Given the description of an element on the screen output the (x, y) to click on. 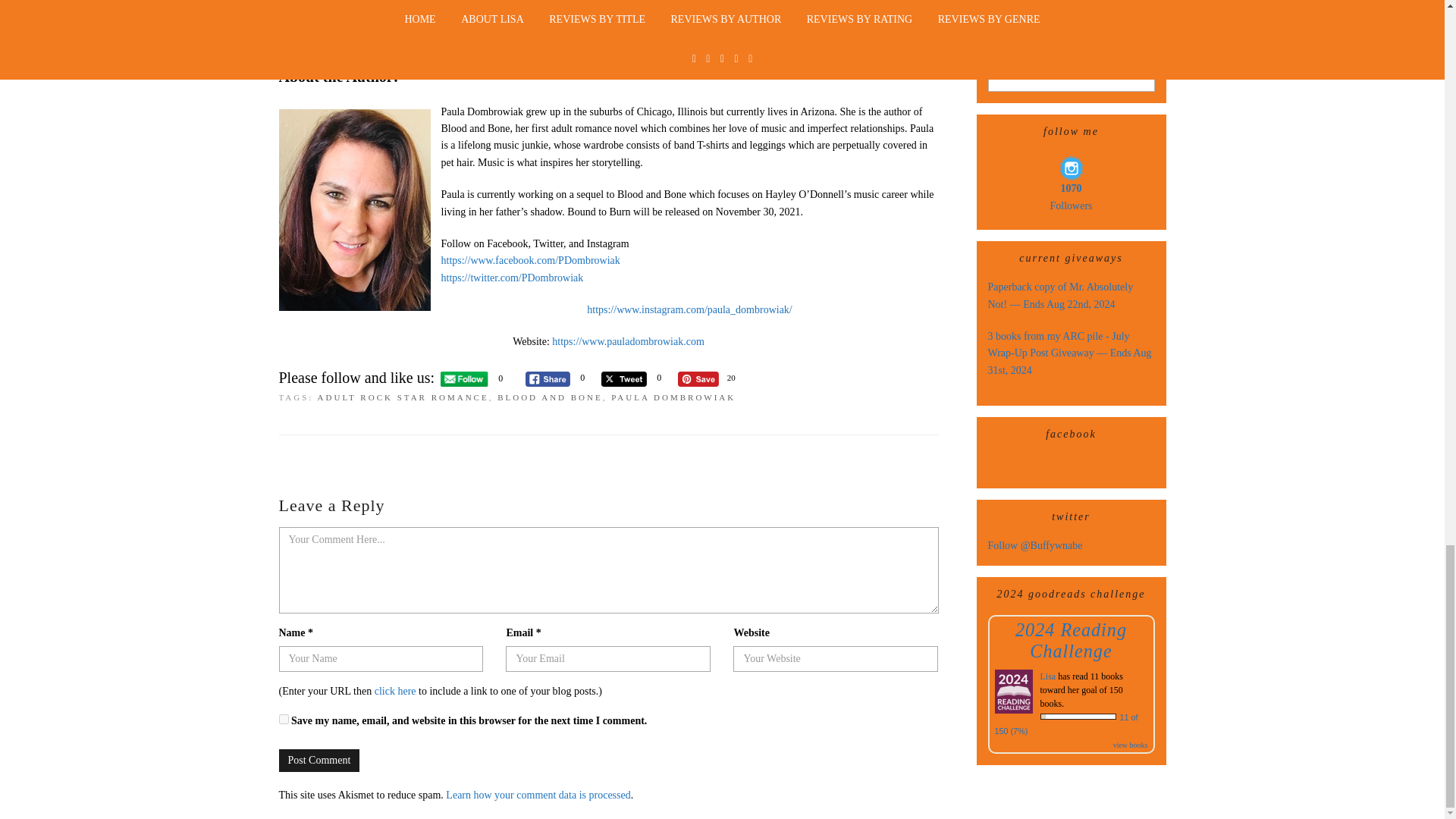
Learn how your comment data is processed (537, 794)
Pin Share (698, 378)
Kobo (608, 39)
Post Comment (319, 760)
Subscribe (1071, 59)
Tweet (623, 378)
Subscribe (1071, 59)
BLOOD AND BONE (549, 397)
Facebook Share (547, 378)
Post Comment (319, 760)
